Given the description of an element on the screen output the (x, y) to click on. 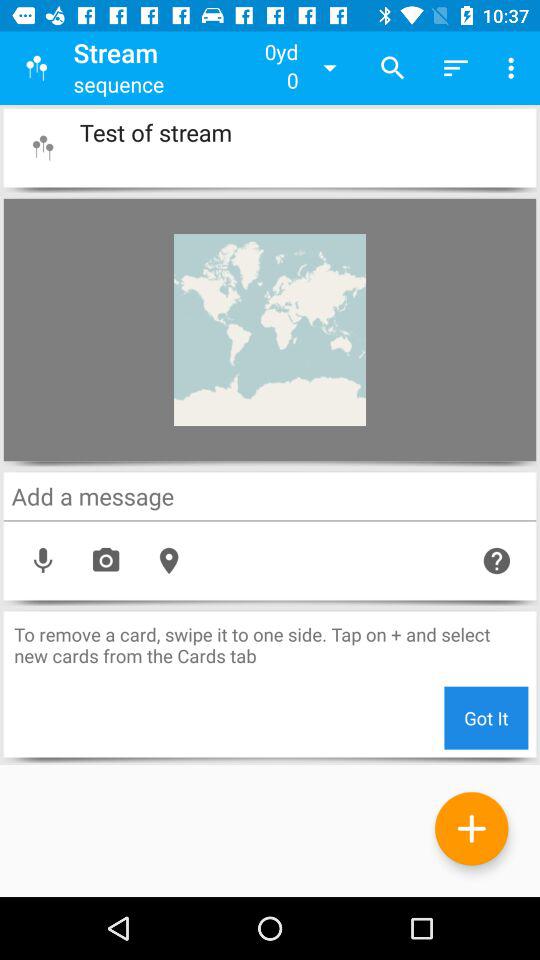
add option (471, 828)
